Given the description of an element on the screen output the (x, y) to click on. 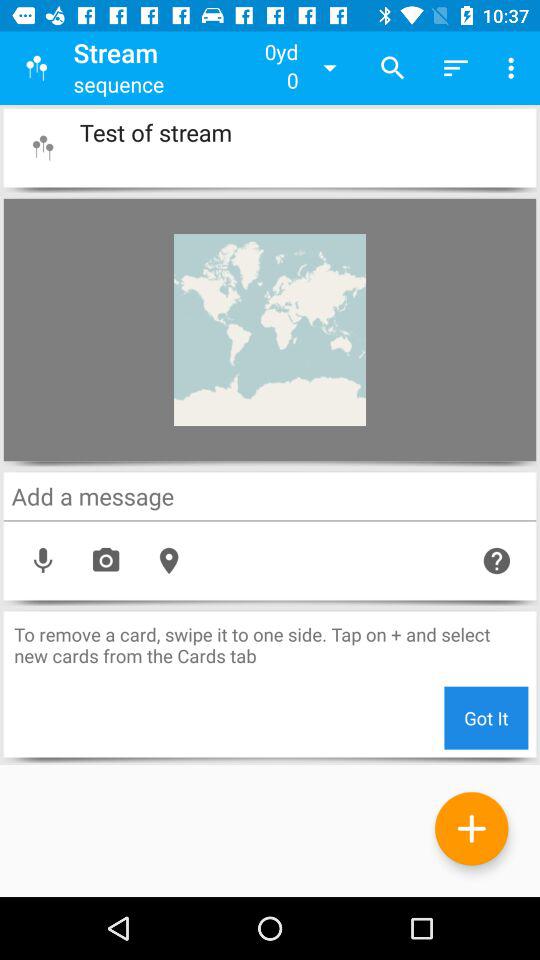
add option (471, 828)
